Given the description of an element on the screen output the (x, y) to click on. 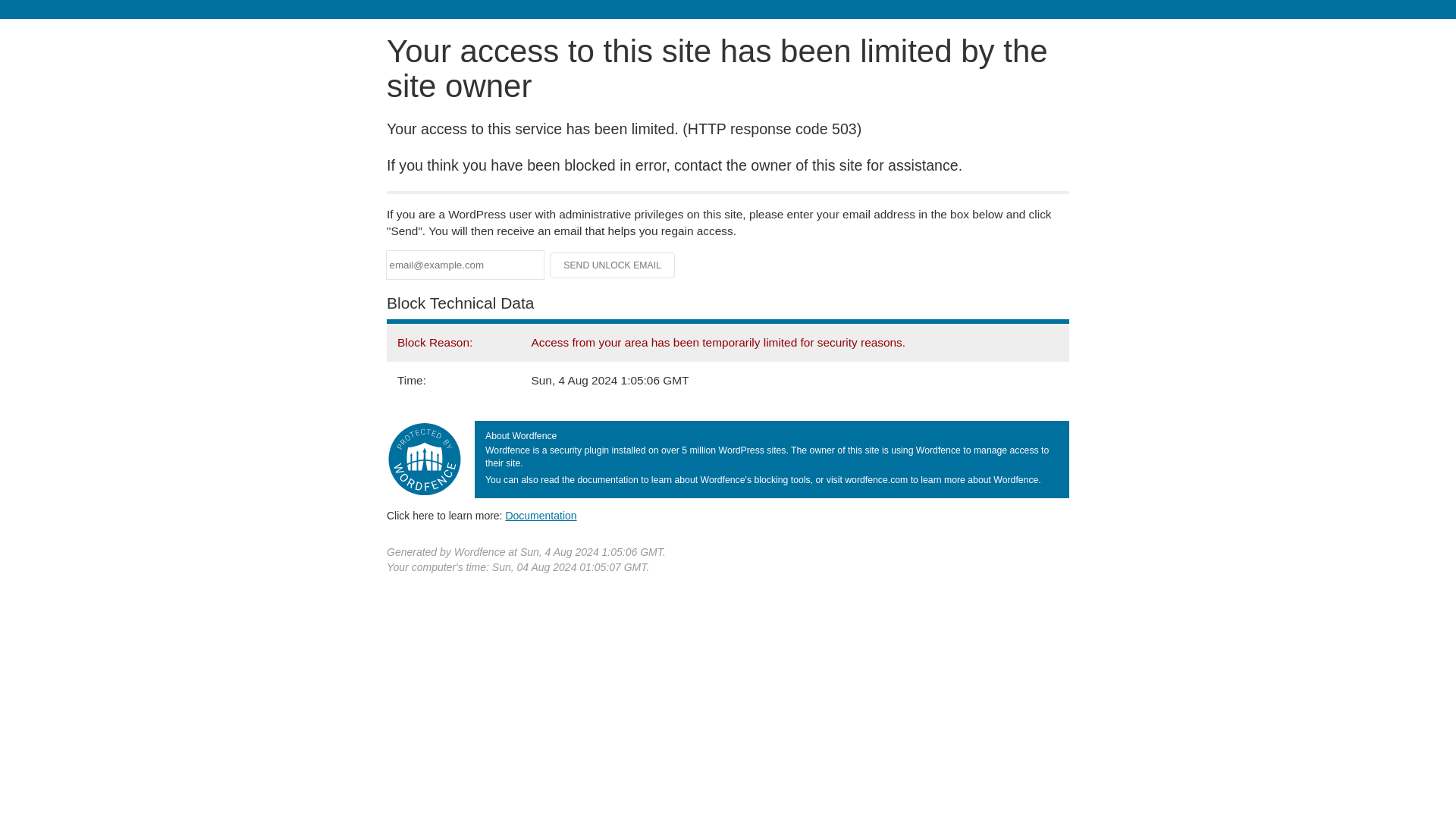
Send Unlock Email (612, 265)
Send Unlock Email (612, 265)
Documentation (540, 515)
